Given the description of an element on the screen output the (x, y) to click on. 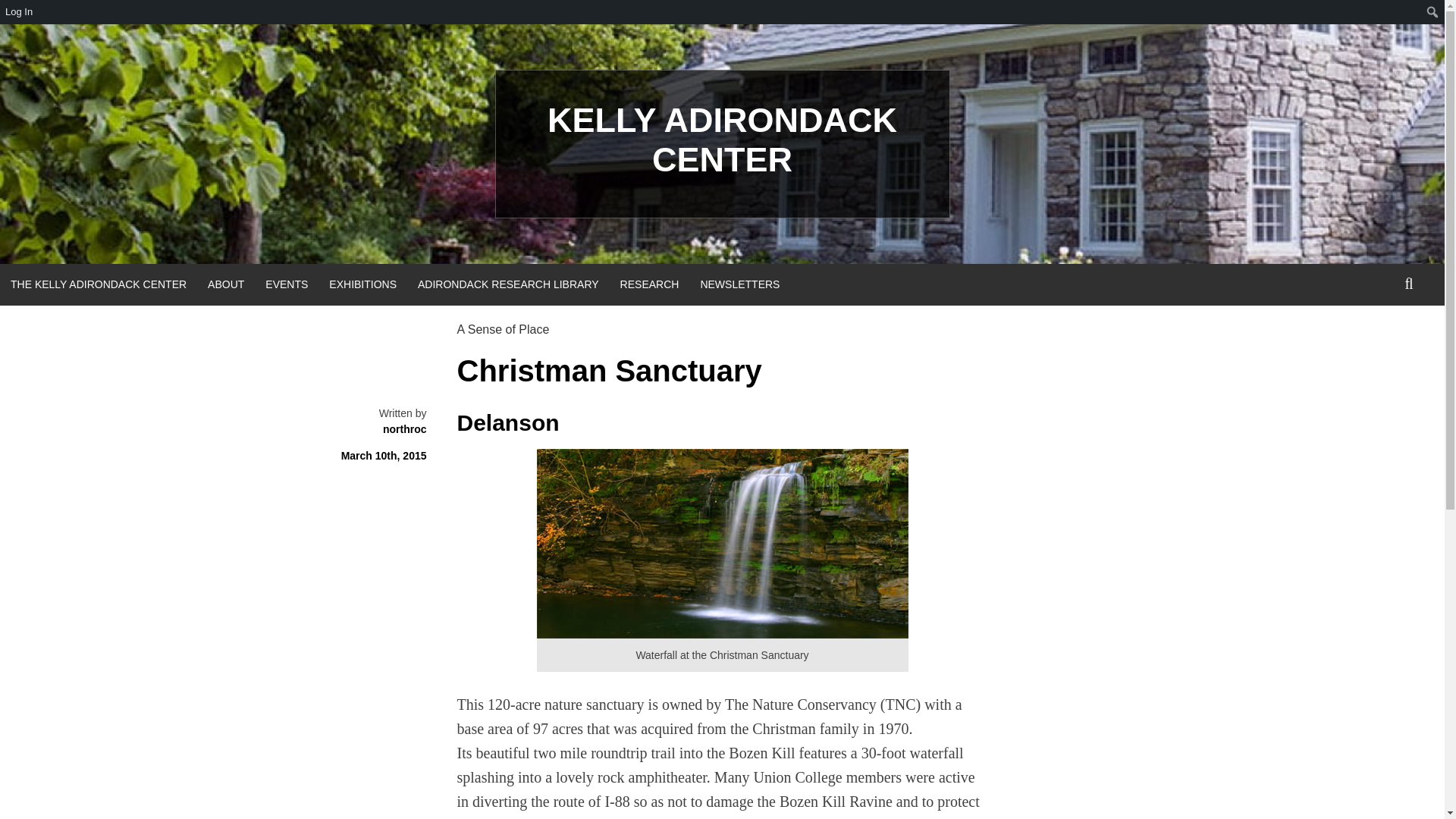
Search (15, 12)
ABOUT (225, 284)
Log In (19, 12)
KELLY ADIRONDACK CENTER (721, 139)
THE KELLY ADIRONDACK CENTER (98, 284)
EVENTS (286, 284)
